Given the description of an element on the screen output the (x, y) to click on. 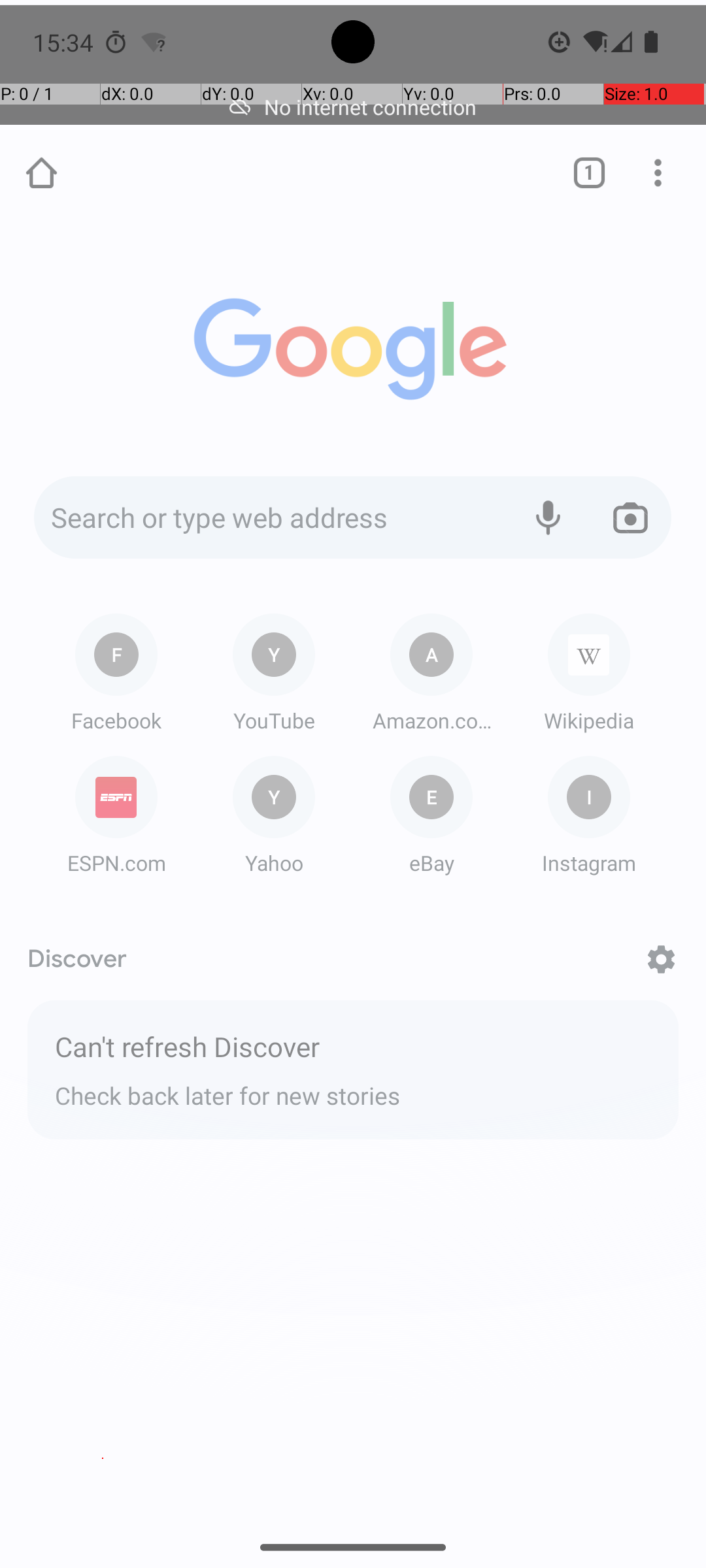
Can't refresh Discover Element type: android.widget.TextView (352, 1047)
Check back later for new stories Element type: android.widget.TextView (352, 1089)
